Given the description of an element on the screen output the (x, y) to click on. 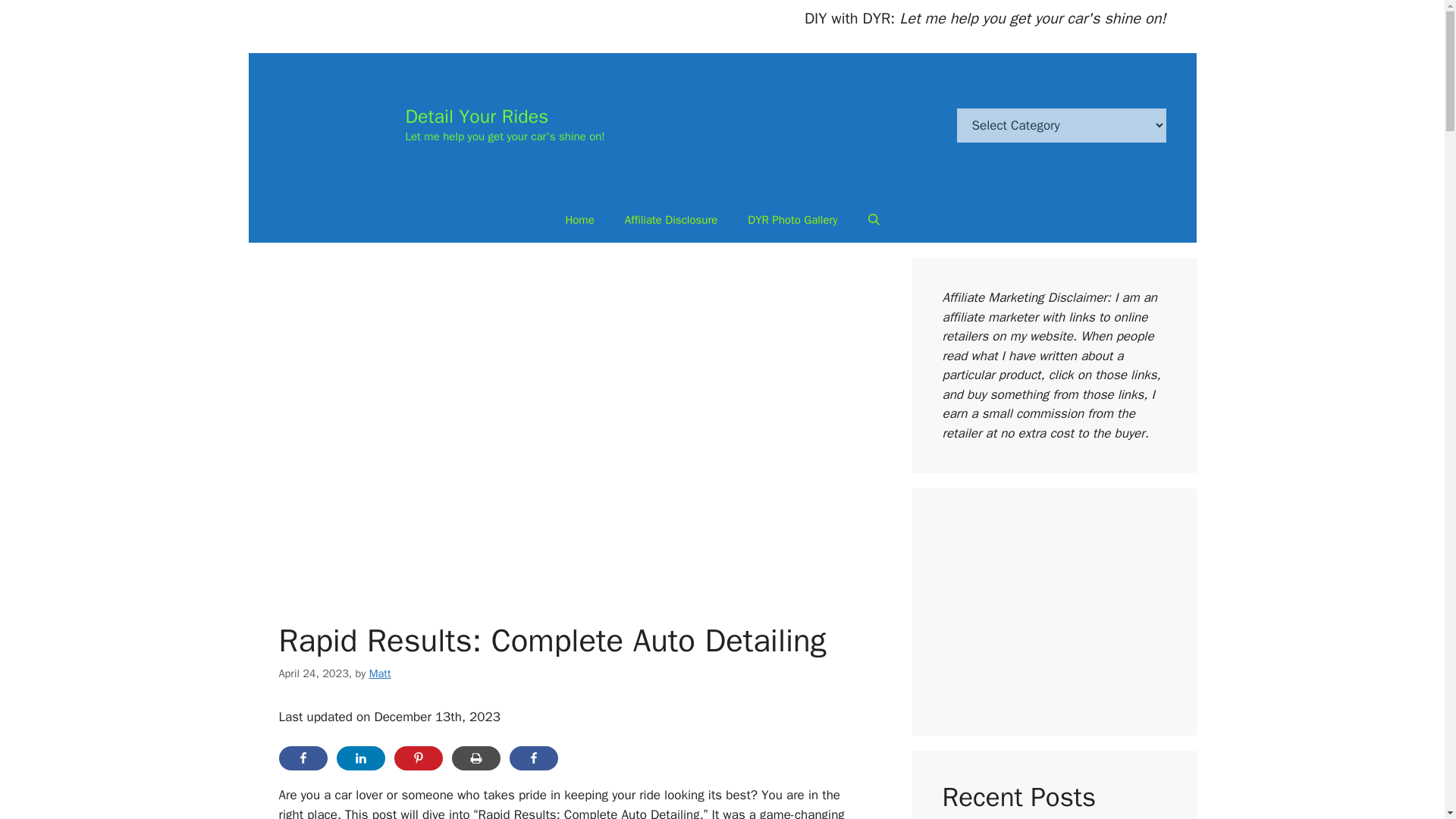
Matt (380, 673)
Affiliate Disclosure (671, 219)
Like on Facebook (533, 758)
DYR Photo Gallery (791, 219)
Affiliate Disclosure (671, 219)
Detail Your Rides Photo Gallery (791, 219)
Share on LinkedIn (360, 758)
Detail Your Rides (476, 115)
View all posts by Matt (380, 673)
Print this Page (475, 758)
Share on Facebook (303, 758)
Share on Pinterest (418, 758)
Home (579, 219)
Detail Your Rides Home (579, 219)
